Given the description of an element on the screen output the (x, y) to click on. 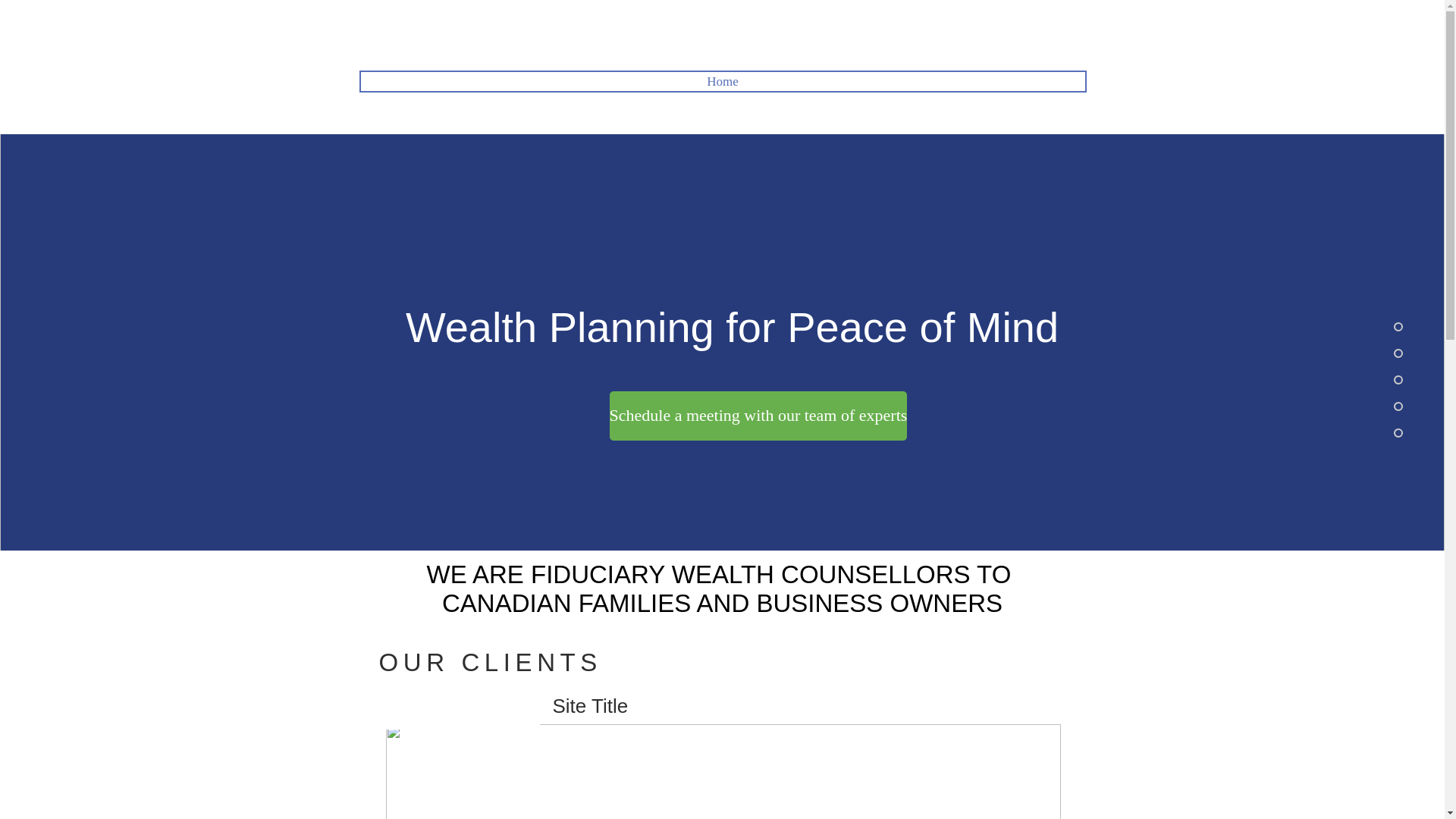
Read More (797, 818)
Schedule a meeting with our team of experts (758, 415)
Home (722, 81)
